Given the description of an element on the screen output the (x, y) to click on. 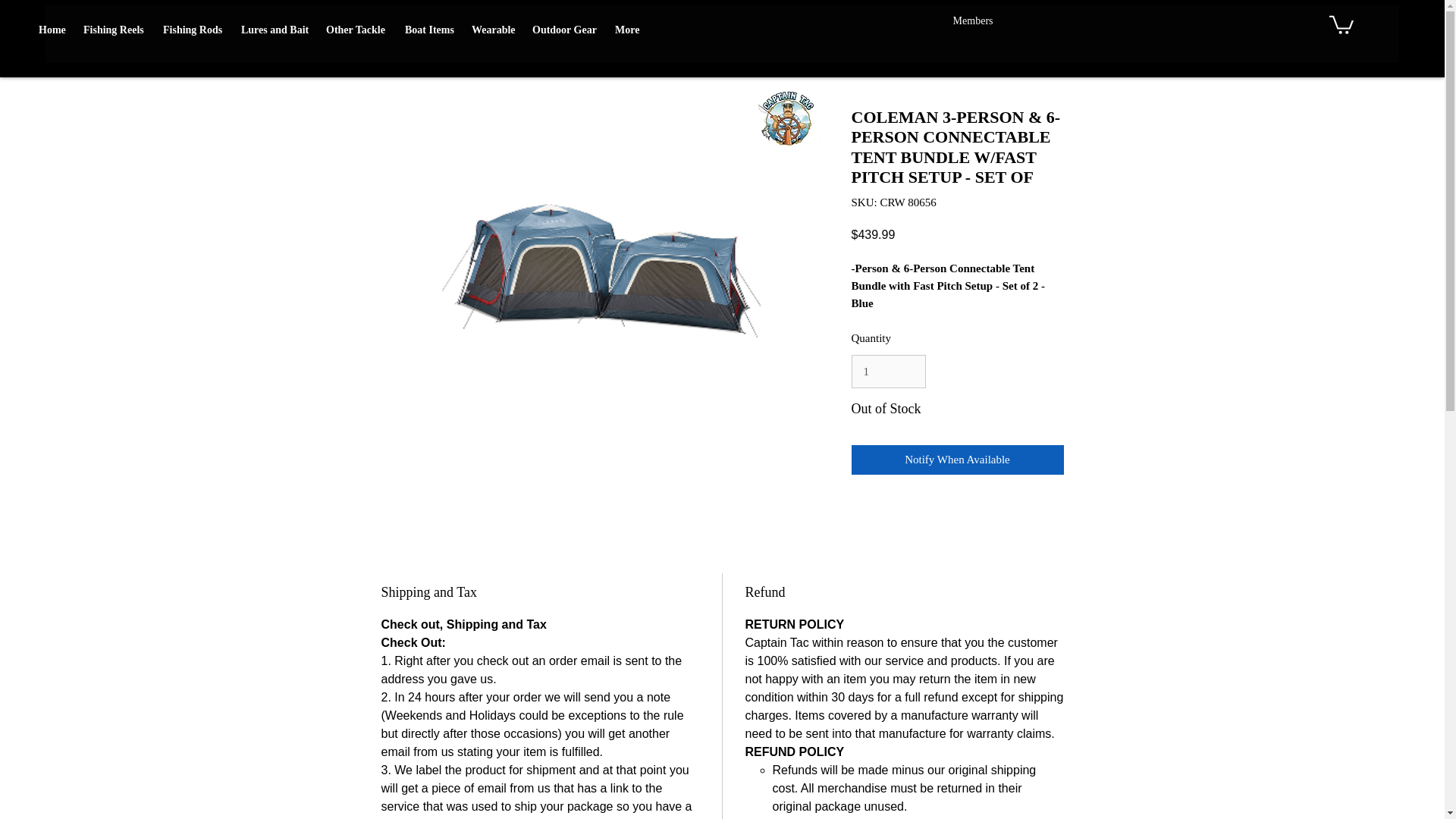
Members (973, 20)
Outdoor Gear (565, 29)
1 (887, 371)
Lures and Bait (275, 29)
Other Tackle (357, 29)
Boat Items (430, 29)
Fishing Rods (193, 29)
Home (52, 29)
Wearable (494, 29)
Fishing Reels (115, 29)
Notify When Available (956, 460)
